Given the description of an element on the screen output the (x, y) to click on. 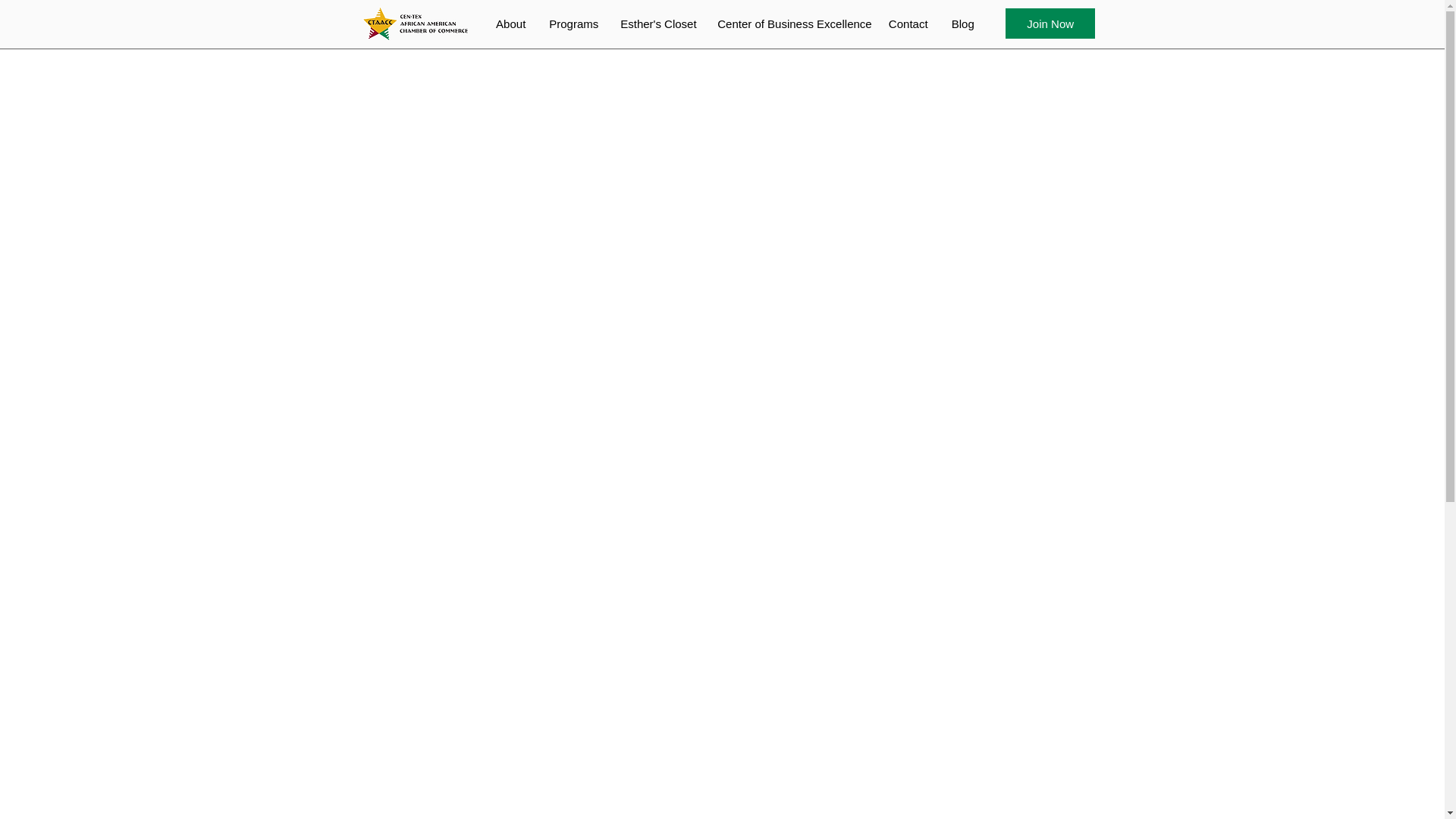
Esther's Closet (657, 23)
Center of Business Excellence (791, 23)
Join Now (1050, 23)
Blog (962, 23)
Contact (907, 23)
Programs (572, 23)
About (510, 23)
